Given the description of an element on the screen output the (x, y) to click on. 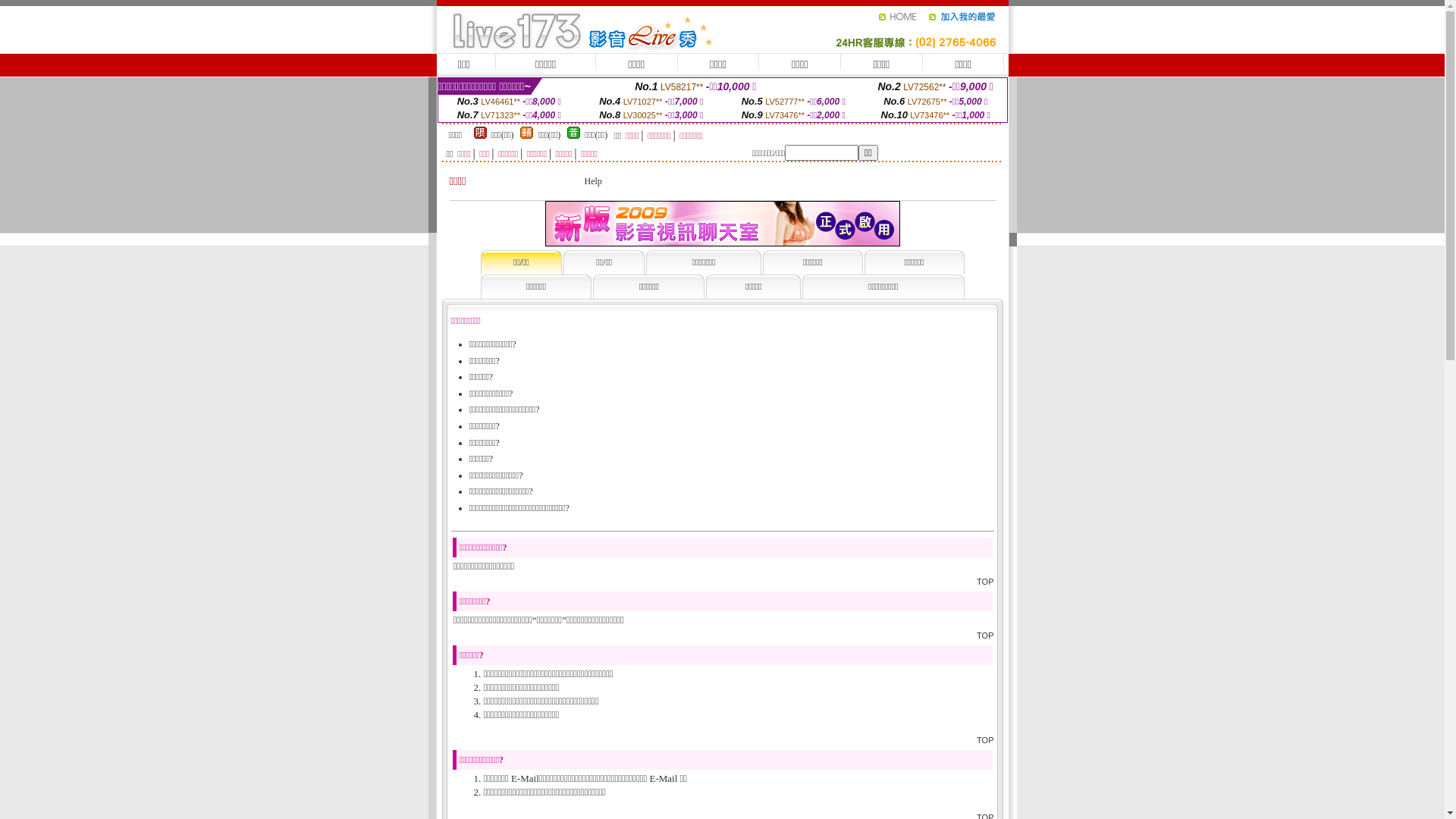
TOP Element type: text (984, 581)
TOP Element type: text (984, 739)
TOP Element type: text (984, 635)
